Given the description of an element on the screen output the (x, y) to click on. 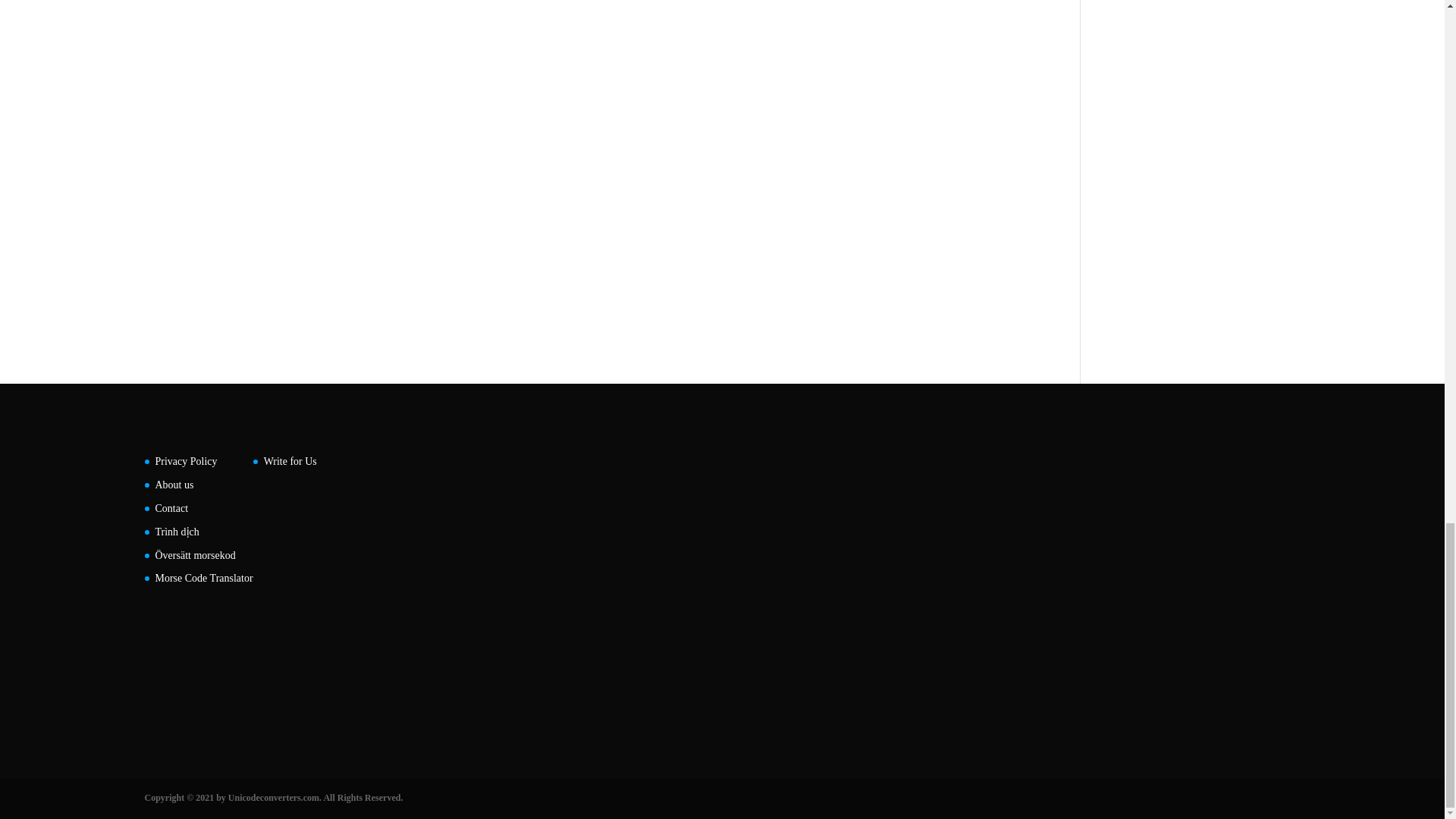
About us (173, 484)
Contact (170, 508)
Morse Code Translator (202, 577)
Privacy Policy (185, 460)
Write for Us (290, 460)
